Given the description of an element on the screen output the (x, y) to click on. 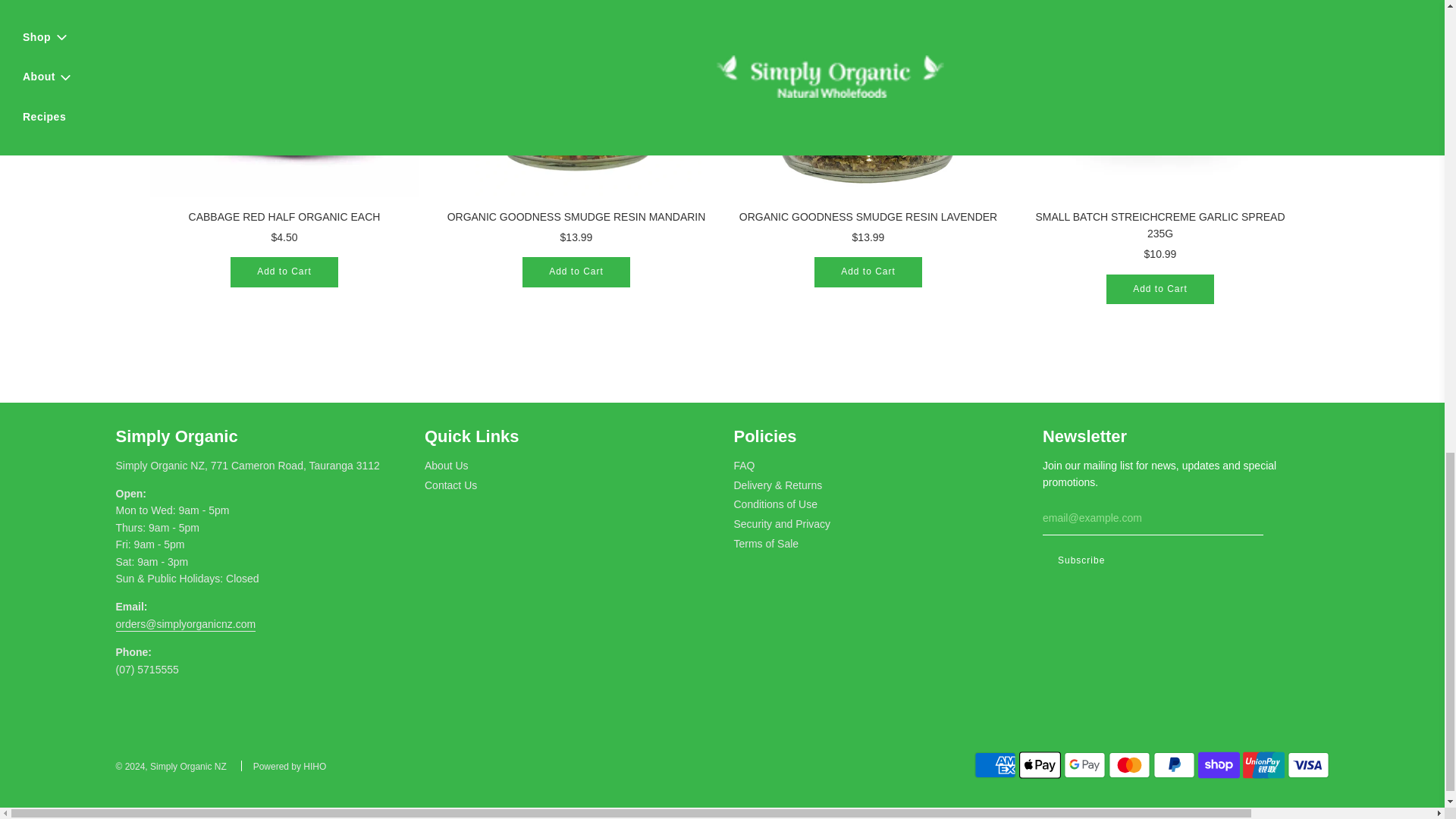
Apple Pay (1040, 765)
ORGANIC GOODNESS SMUDGE RESIN MANDARIN (575, 98)
CABBAGE RED HALF ORGANIC EACH (284, 98)
PayPal (1174, 765)
Mastercard (1129, 765)
Union Pay (1263, 765)
Shop Pay (1219, 765)
American Express (995, 765)
Visa (1308, 765)
ORGANIC GOODNESS SMUDGE RESIN LAVENDER (868, 98)
Google Pay (1084, 765)
Subscribe (1080, 560)
SMALL BATCH STREICHCREME GARLIC SPREAD 235G (1159, 98)
